Given the description of an element on the screen output the (x, y) to click on. 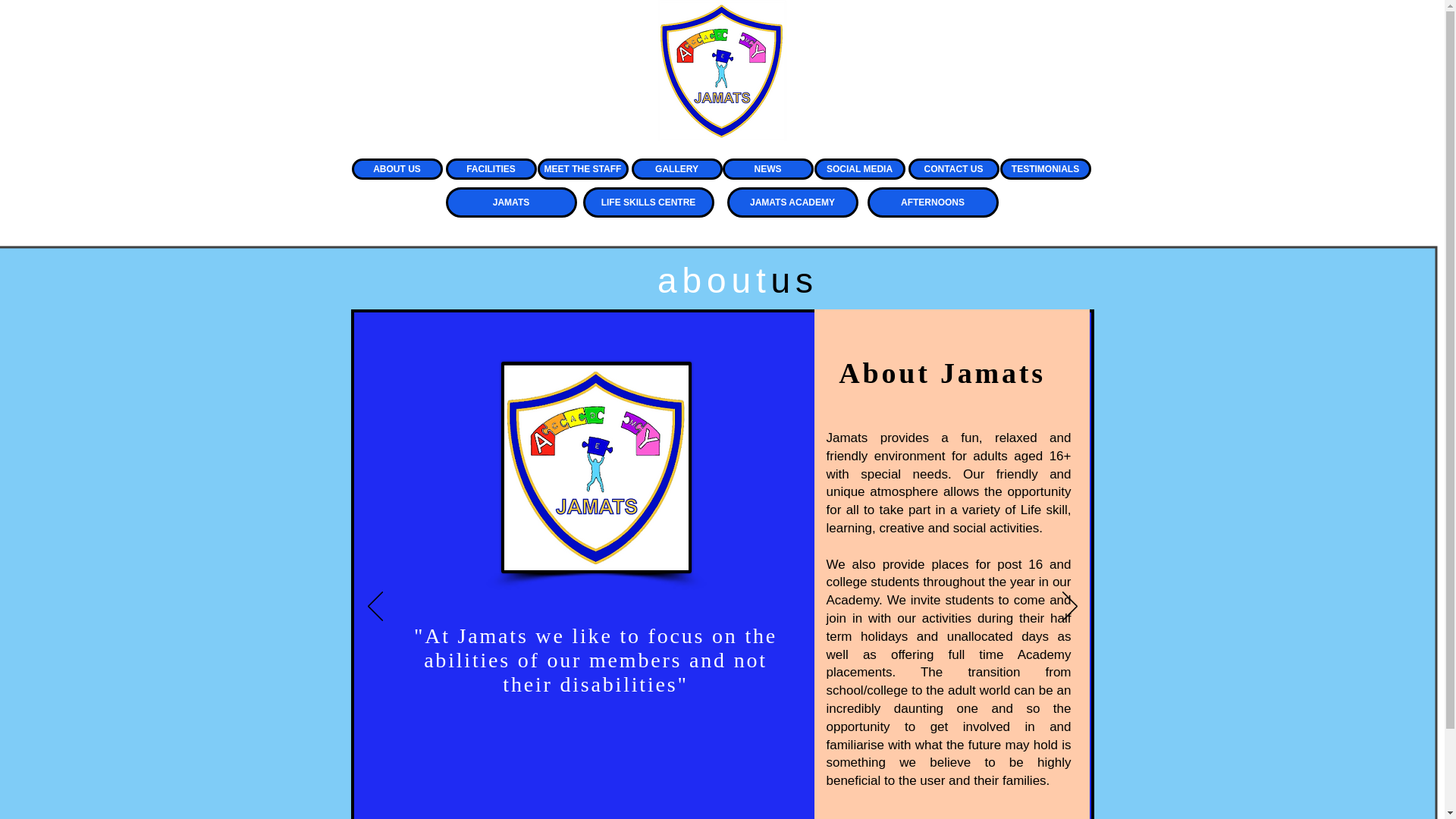
NEWS (767, 168)
LIFE SKILLS CENTRE (647, 202)
JAMATS ACADEMY (791, 202)
TESTIMONIALS (1044, 168)
JAMATS (510, 202)
Picture1.png (722, 70)
Picture1.png (595, 467)
SOCIAL MEDIA (859, 168)
FACILITIES (491, 168)
ABOUT US (397, 168)
CONTACT US (953, 168)
AFTERNOONS (932, 202)
MEET THE STAFF (582, 168)
GALLERY (676, 168)
